Given the description of an element on the screen output the (x, y) to click on. 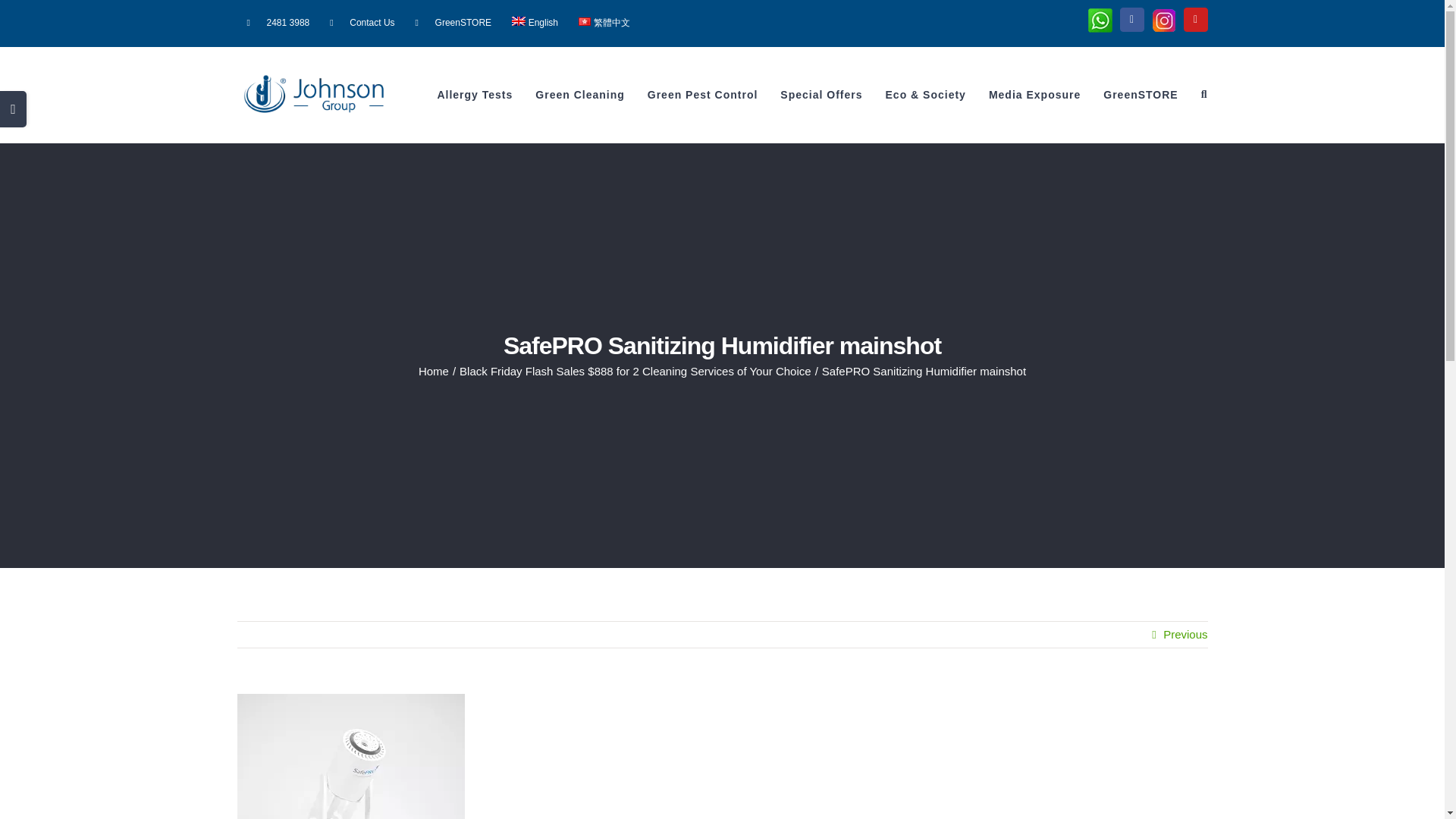
English (534, 23)
2481 3988 (276, 23)
YouTube (1194, 19)
Green Cleaning (579, 94)
Facebook (1130, 19)
YouTube (1194, 19)
Whatsapp (1099, 20)
Instagram (1162, 20)
Whatsapp (1099, 20)
Contact Us (362, 23)
